Given the description of an element on the screen output the (x, y) to click on. 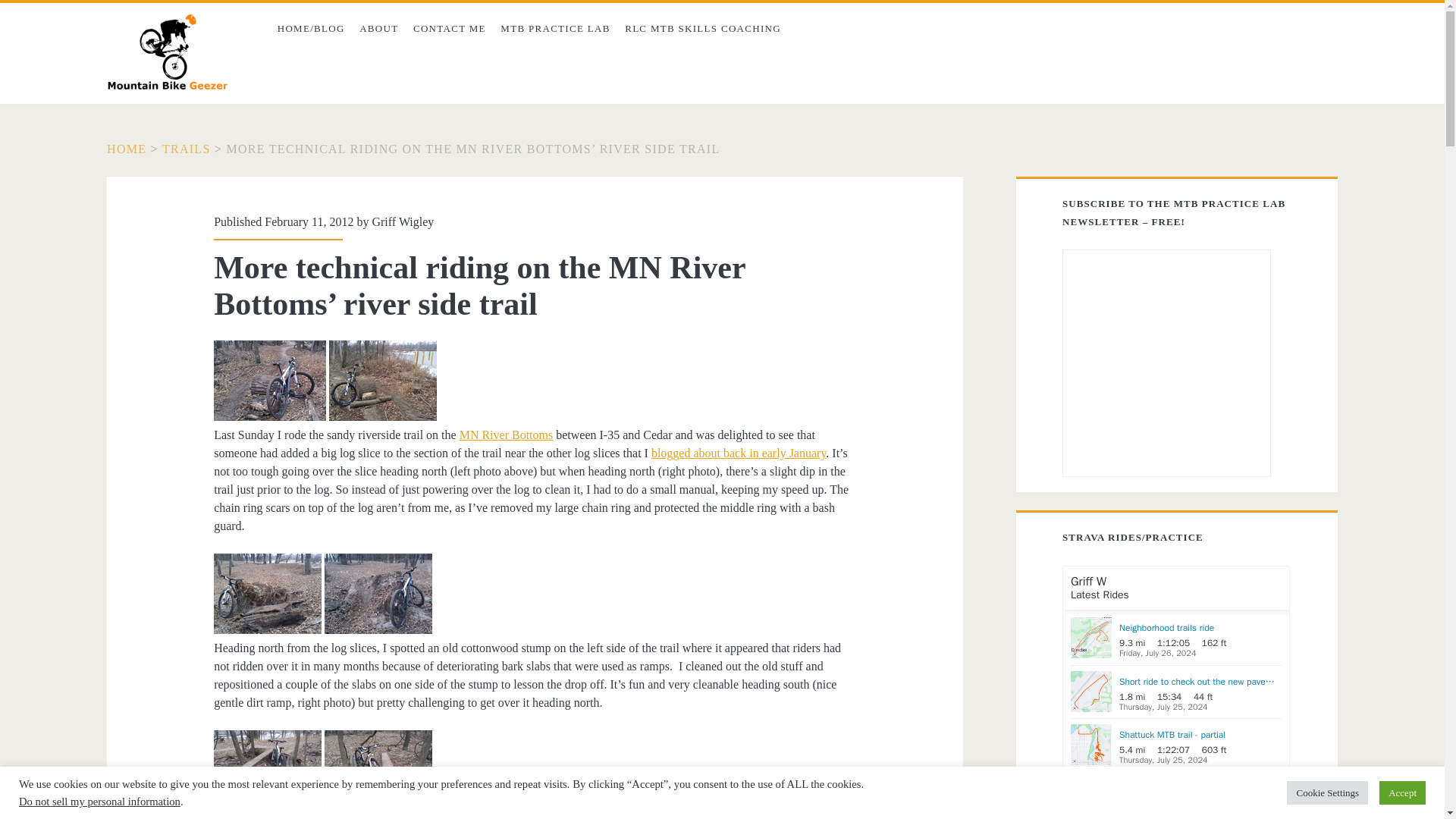
MN River Bottoms (506, 434)
About Griff Wigley, Mountain Bike Geezer (379, 28)
HOME (126, 148)
Griff Wigley (402, 221)
CONTACT ME (449, 28)
blogged about back in early January (737, 452)
Posts by Griff Wigley (402, 221)
Send a message via email or voice (449, 28)
TRAILS (186, 148)
ABOUT (379, 28)
MTB PRACTICE LAB (555, 28)
RLC MTB SKILLS COACHING (702, 28)
My Substack Newsletter (555, 28)
Home (126, 148)
